Given the description of an element on the screen output the (x, y) to click on. 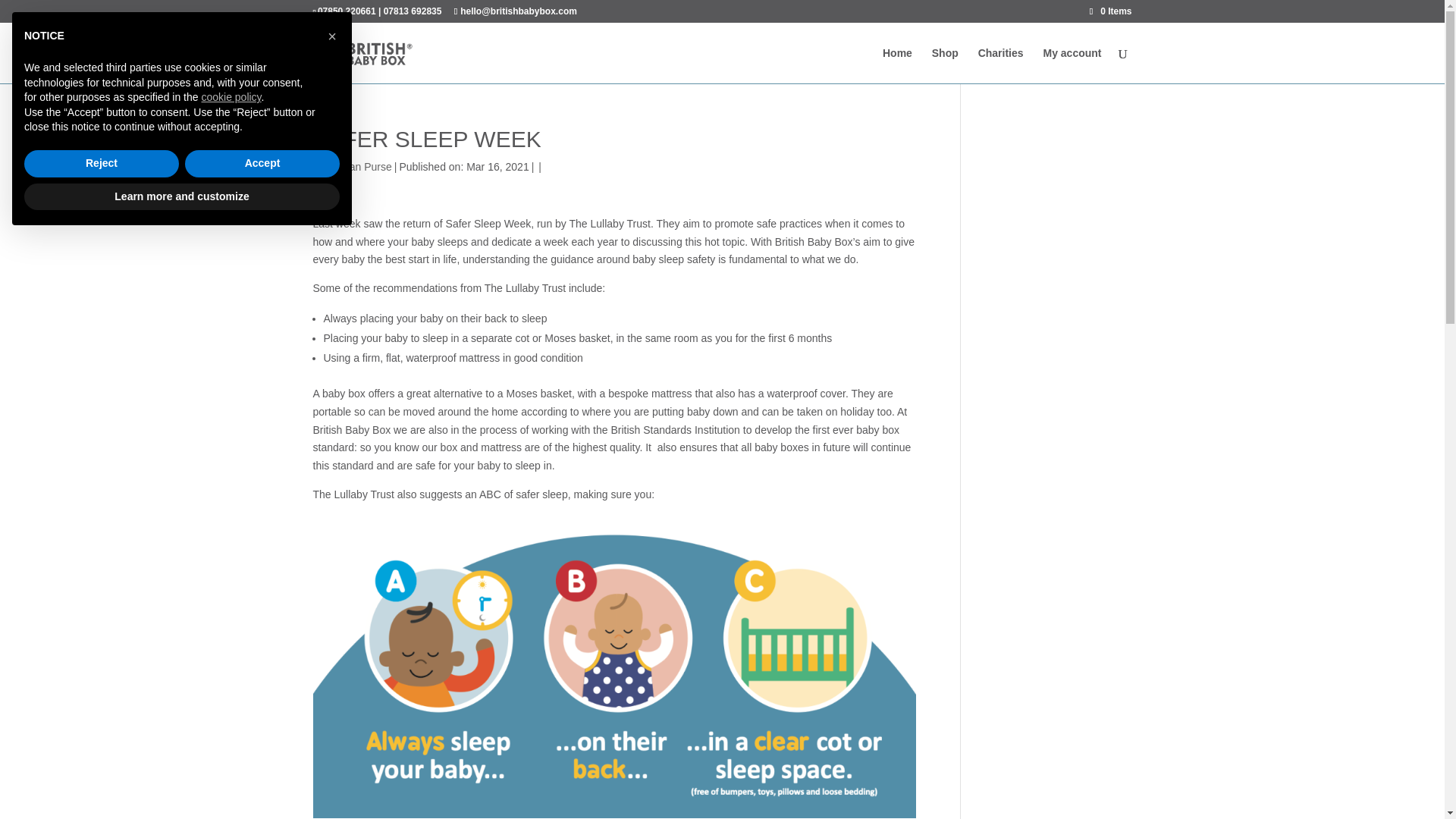
Learn more and customize (181, 196)
Charities (1000, 65)
Reject (101, 163)
cookie policy (230, 96)
My account (1071, 65)
0 Items (1110, 10)
Posts by Susan Purse (361, 166)
Susan Purse (361, 166)
Accept (261, 163)
